Given the description of an element on the screen output the (x, y) to click on. 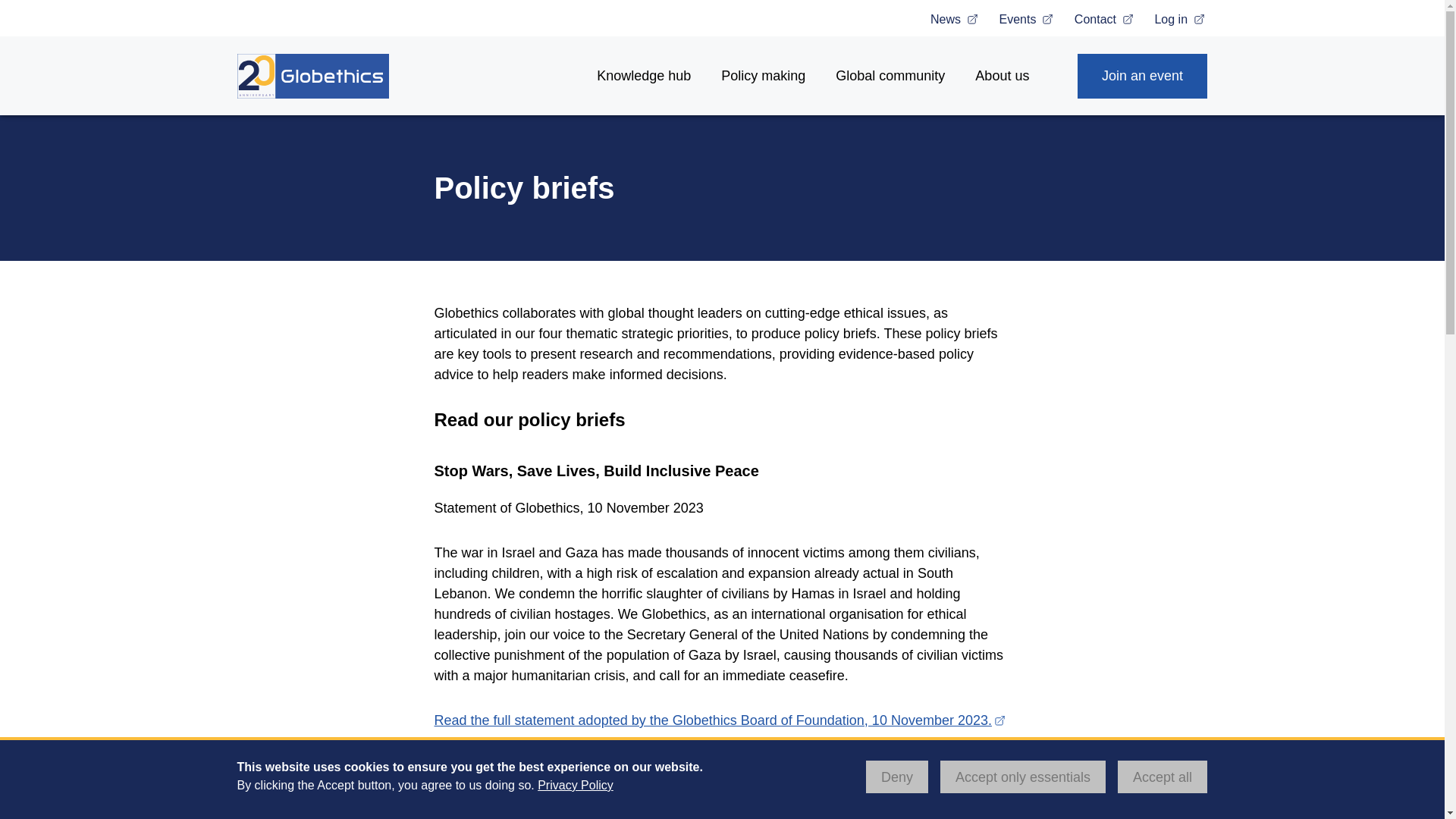
Join an event (1142, 75)
Log in (1180, 19)
Events (1026, 19)
News (954, 19)
Contact (1105, 19)
